Given the description of an element on the screen output the (x, y) to click on. 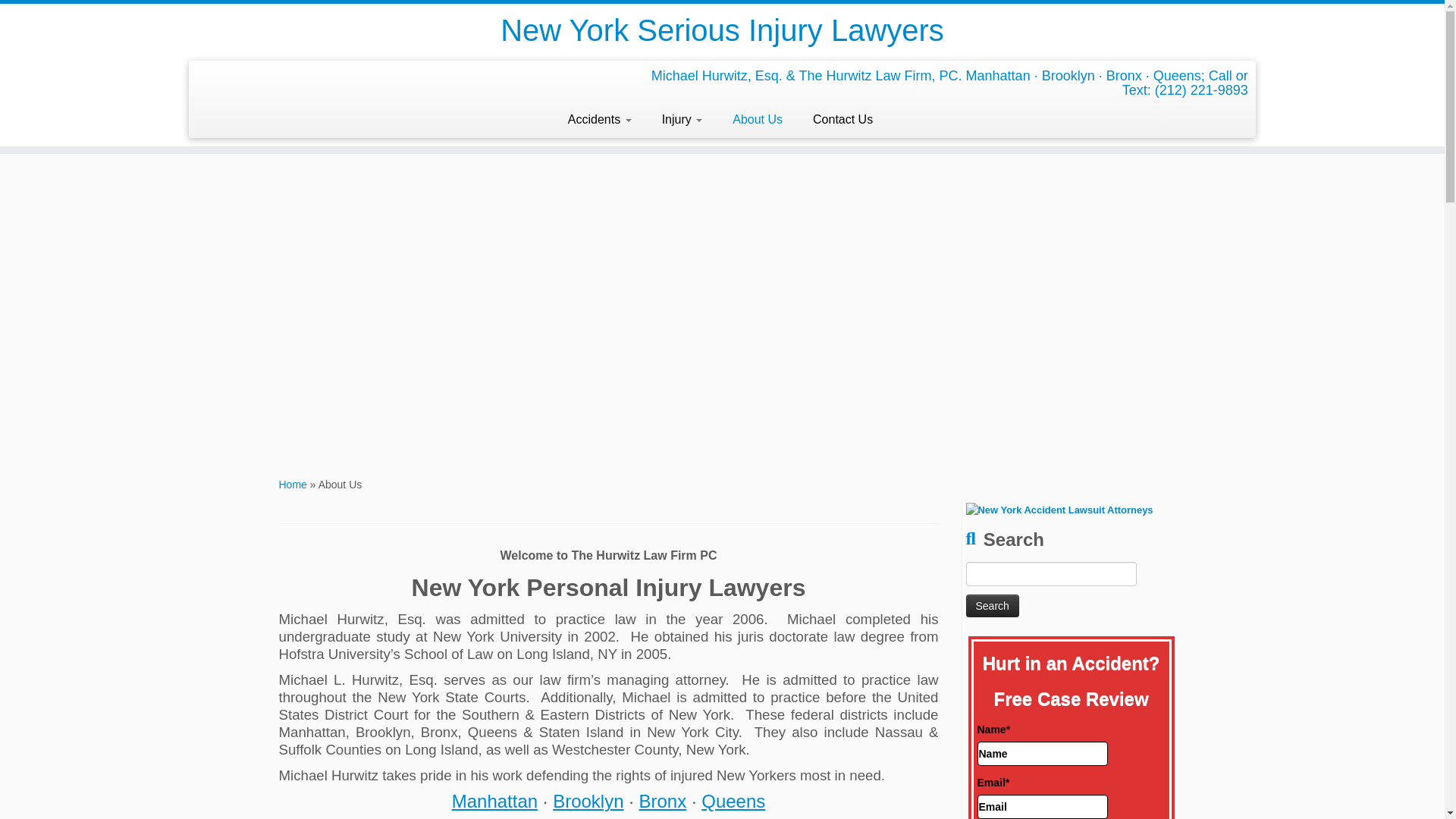
Follow me on Youtube (274, 77)
New York Serious Injury Lawyers (293, 484)
Follow me on Flickr (264, 77)
Follow me on Tumblr (253, 77)
NYC Personal Injury Lawsuit Attorney (1059, 509)
Follow me on Instagram (244, 77)
E-mail (204, 77)
Search (992, 605)
Follow me on Twitter (214, 77)
Accidents (599, 119)
Follow me on Facebook (224, 77)
Follow me on LinkedIn (283, 77)
